Given the description of an element on the screen output the (x, y) to click on. 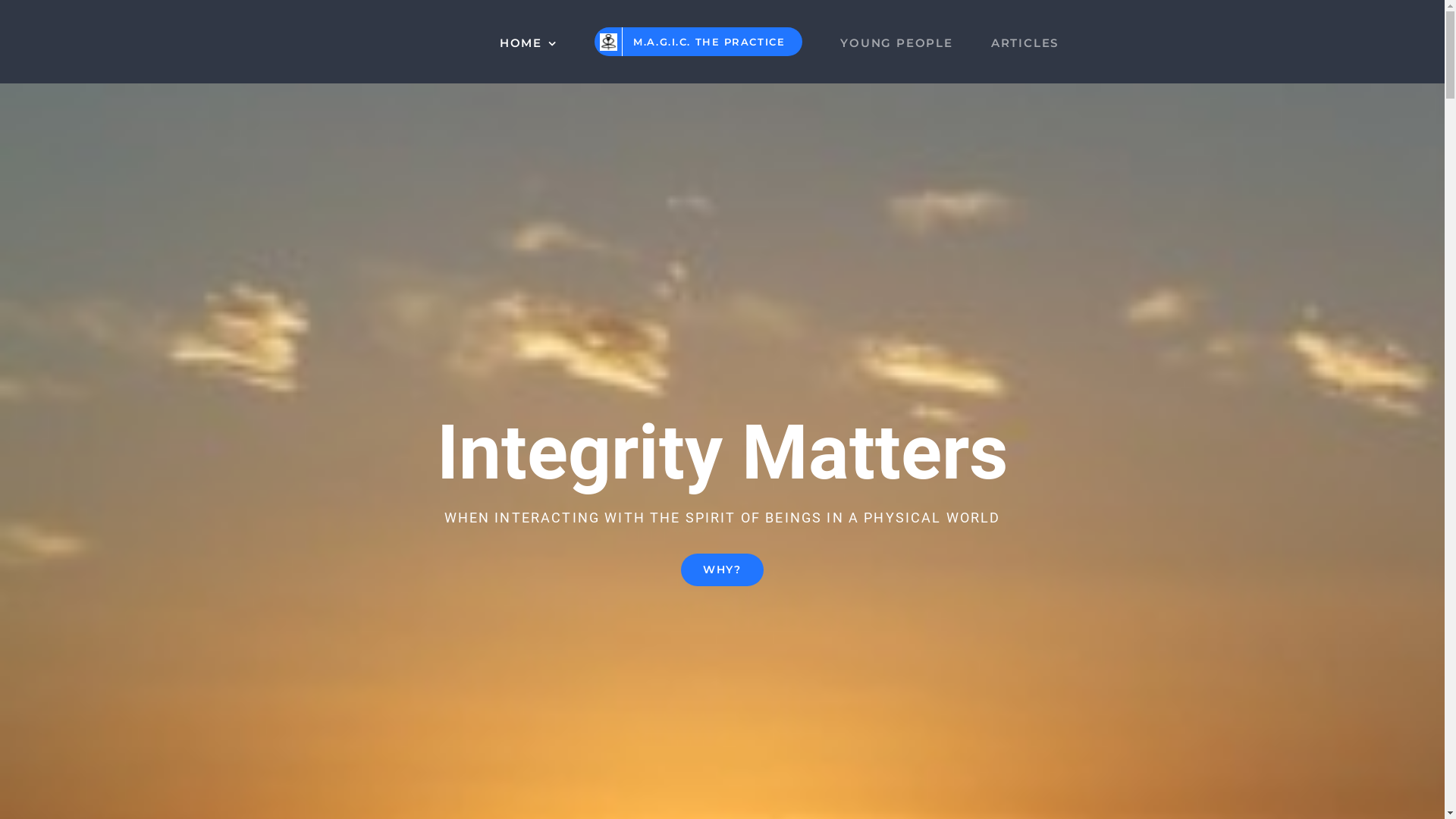
ARTICLES Element type: text (1024, 41)
WHY? Element type: text (721, 569)
YOUNG PEOPLE Element type: text (896, 41)
HOME Element type: text (528, 41)
M.A.G.I.C. THE PRACTICE Element type: text (698, 41)
IMG_20220719_141344 Element type: hover (608, 41)
